Given the description of an element on the screen output the (x, y) to click on. 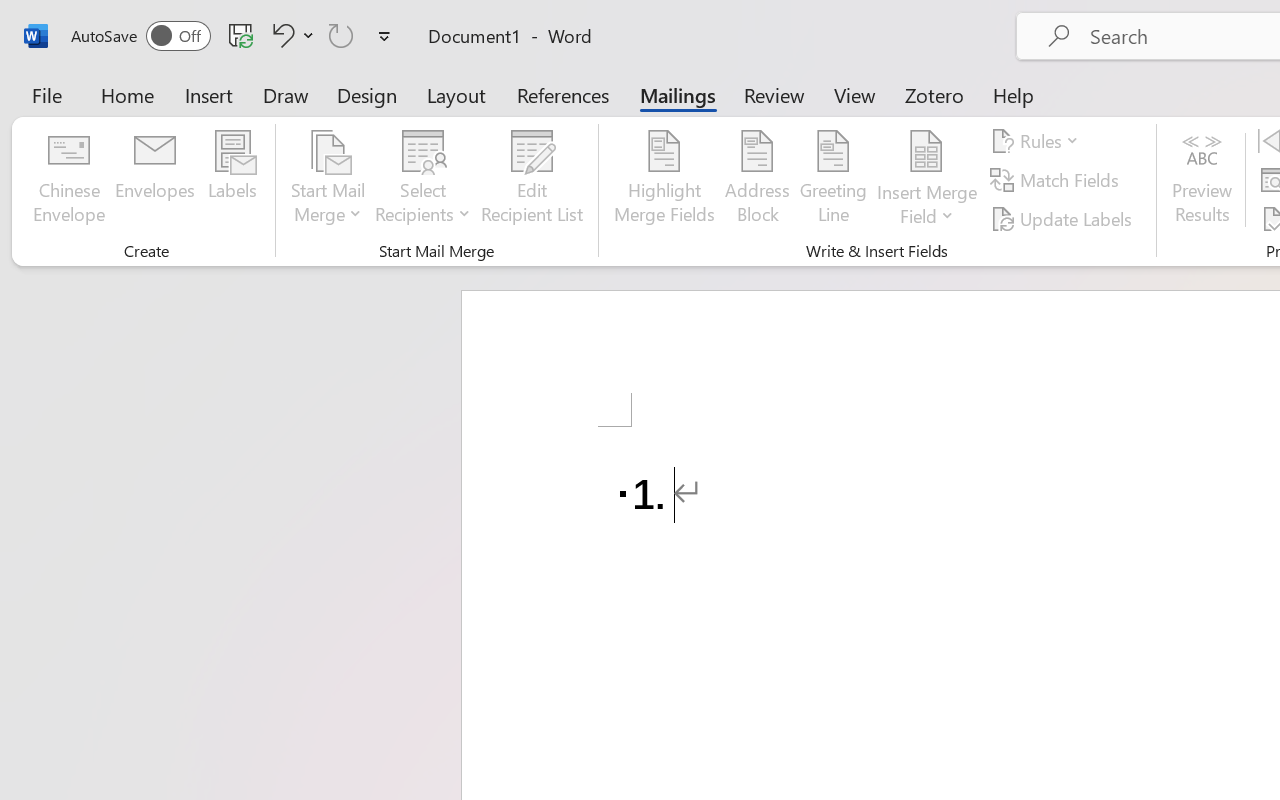
Insert Merge Field (927, 179)
Repeat Doc Close (341, 35)
Address Block... (757, 179)
Match Fields... (1057, 179)
